Given the description of an element on the screen output the (x, y) to click on. 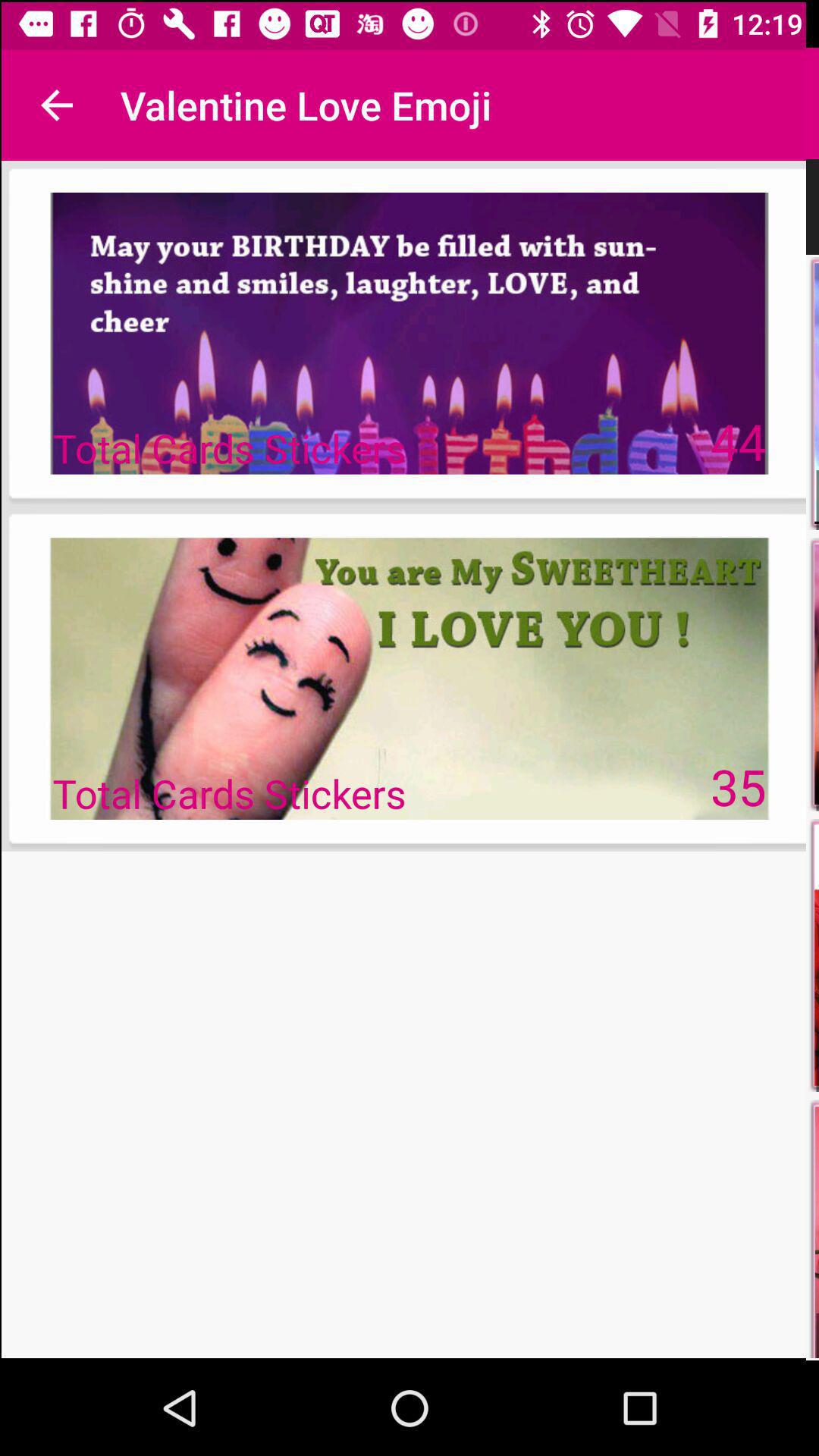
swipe until the 35 item (739, 786)
